Given the description of an element on the screen output the (x, y) to click on. 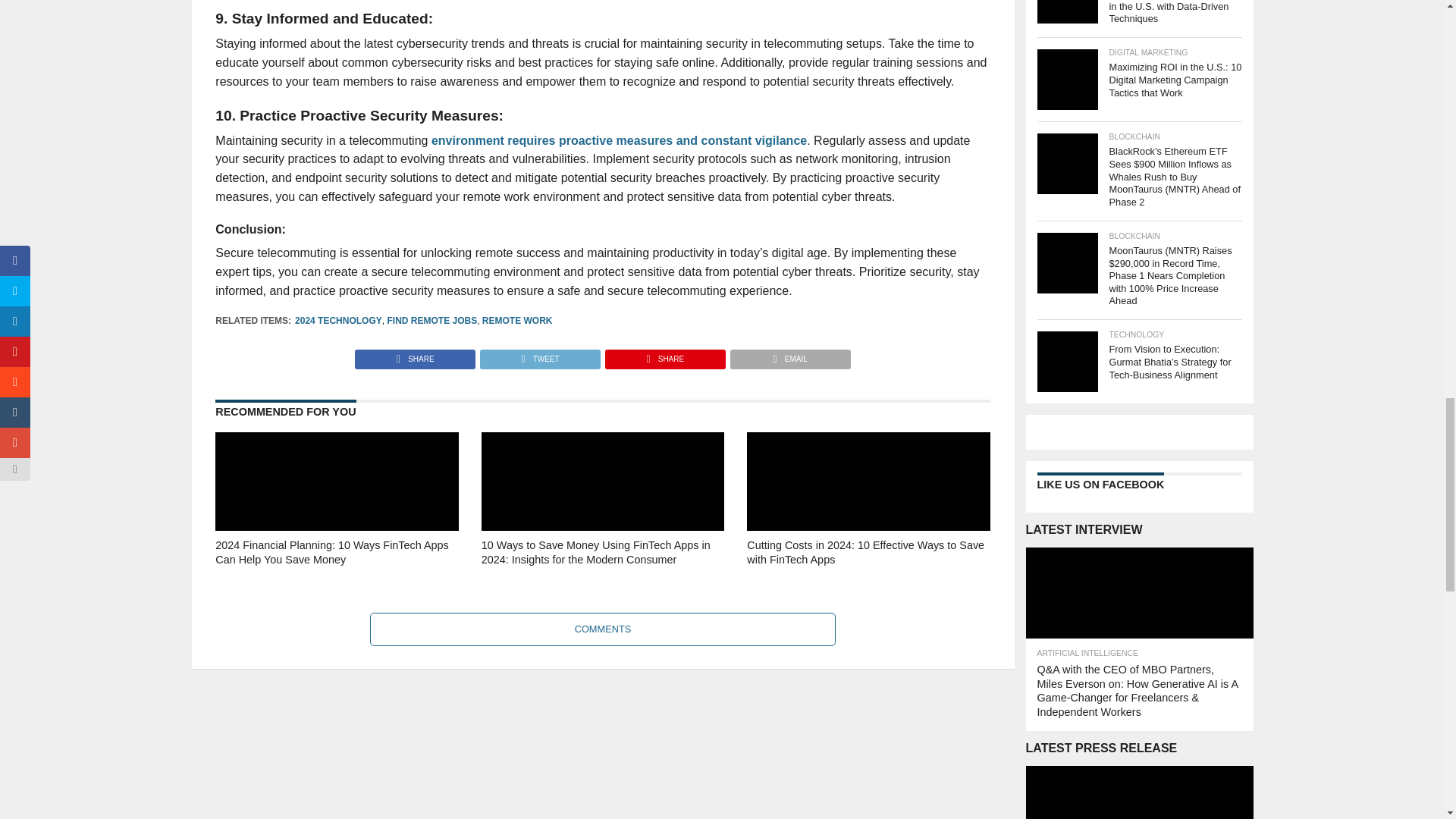
Share on Facebook (415, 354)
Pin This Post (664, 354)
Tweet This Post (539, 354)
